Given the description of an element on the screen output the (x, y) to click on. 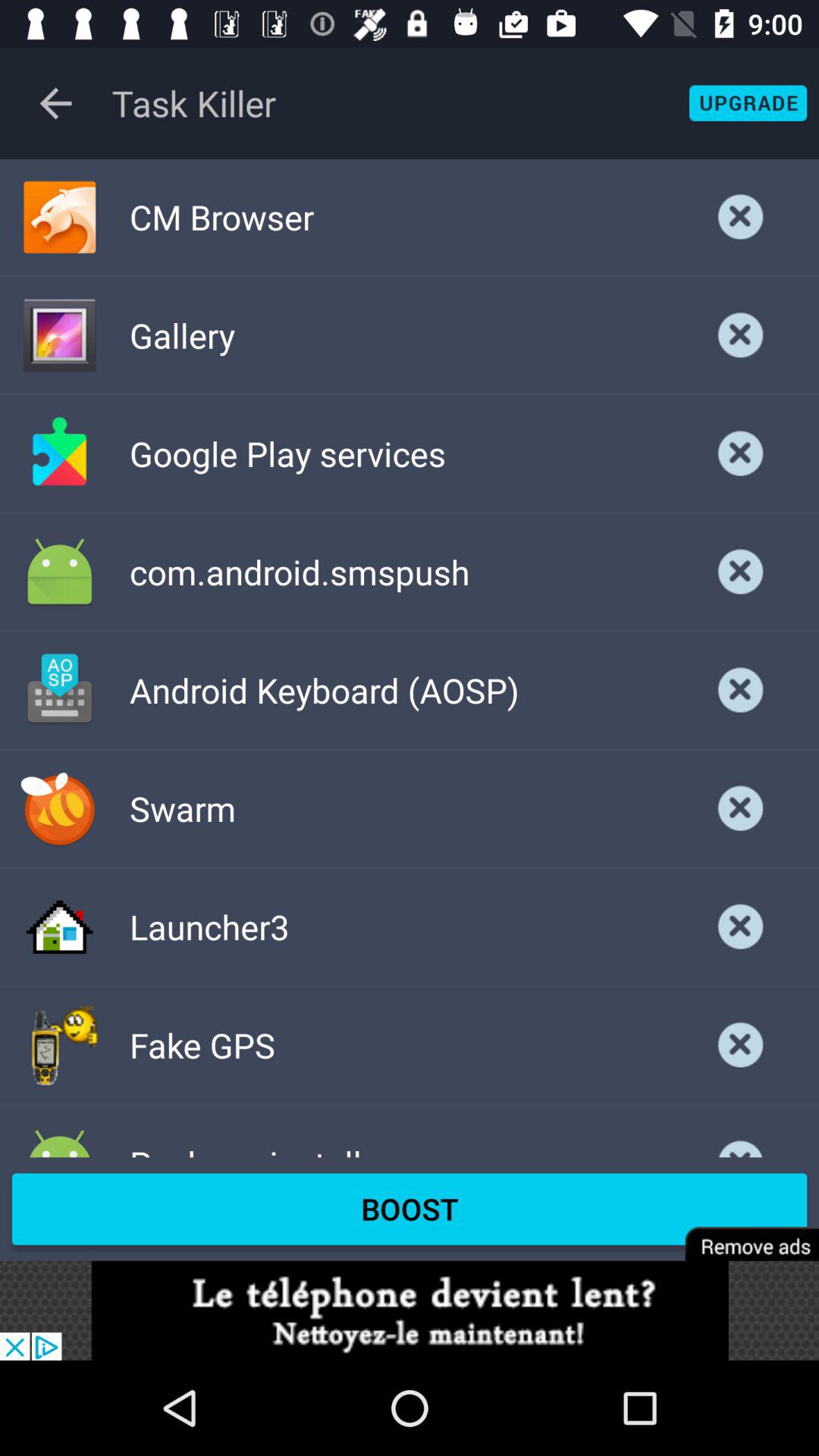
go back to the previous screen (55, 103)
